Given the description of an element on the screen output the (x, y) to click on. 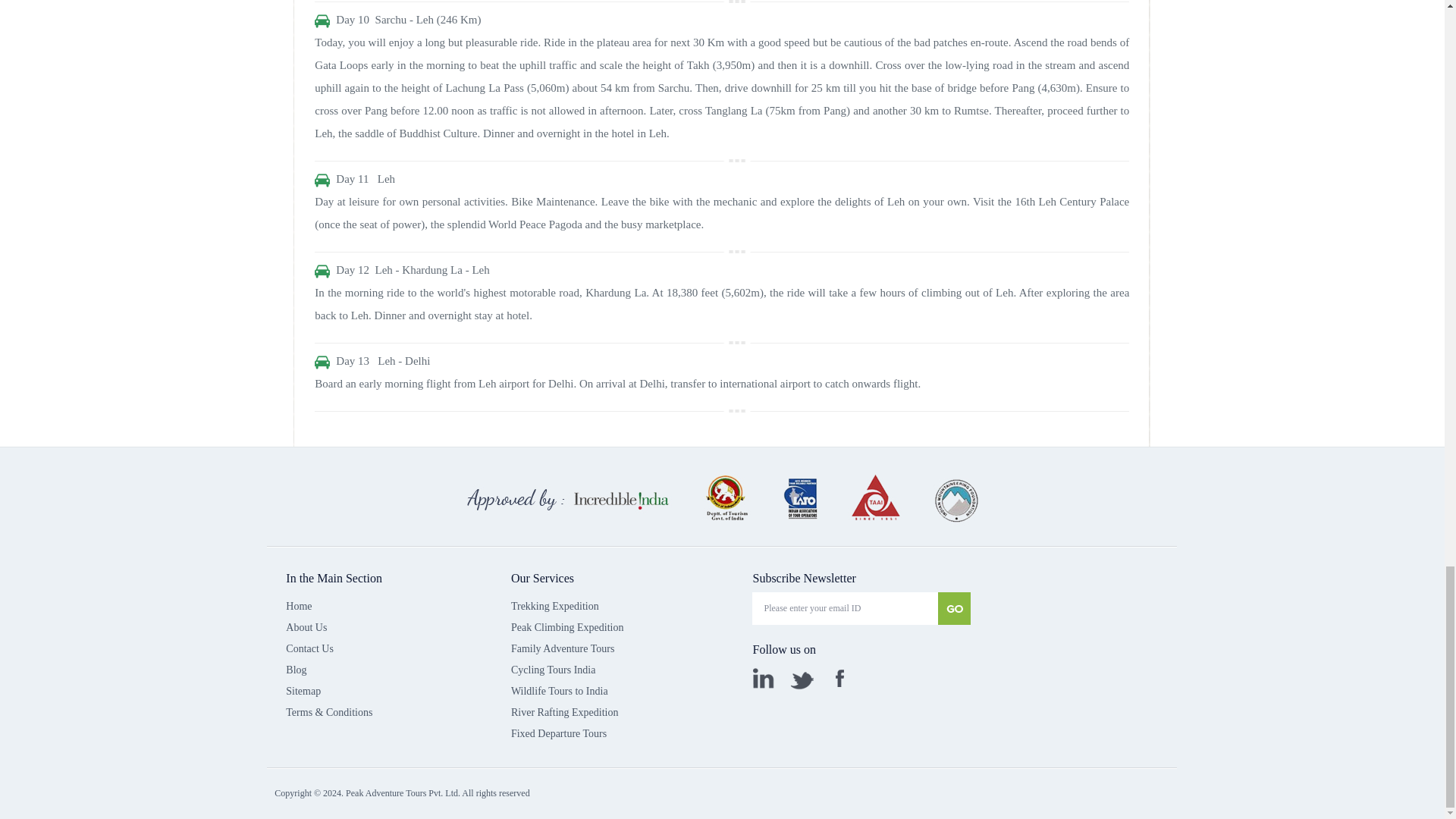
Please enter your email ID (844, 608)
